Given the description of an element on the screen output the (x, y) to click on. 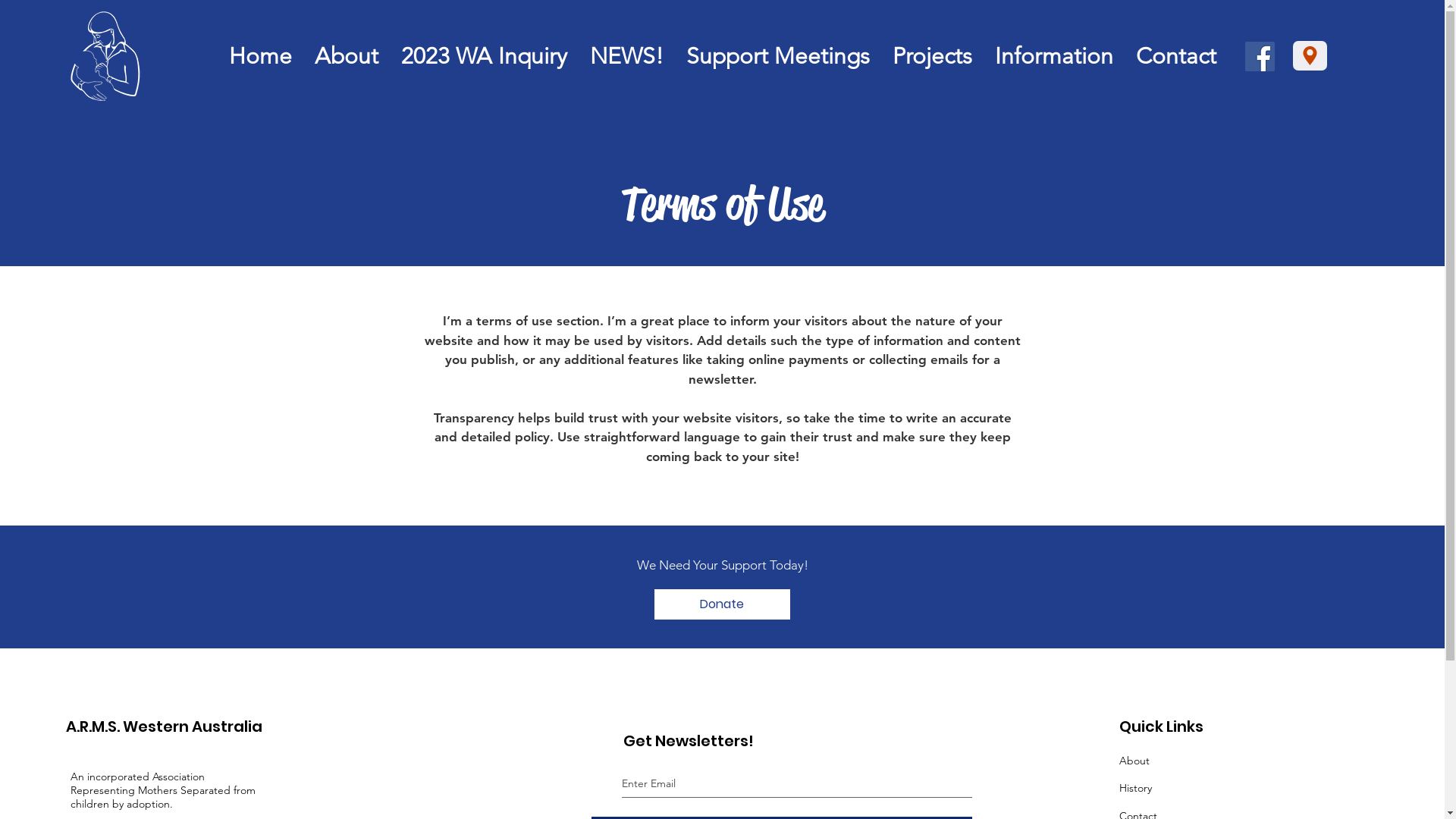
Home Element type: text (260, 56)
History Element type: text (1135, 787)
NEWS! Element type: text (626, 56)
About Element type: text (346, 56)
2023 WA Inquiry Element type: text (483, 56)
About Element type: text (1134, 760)
Donate Element type: text (721, 604)
Contact Element type: text (1175, 56)
Support Meetings Element type: text (777, 56)
